Given the description of an element on the screen output the (x, y) to click on. 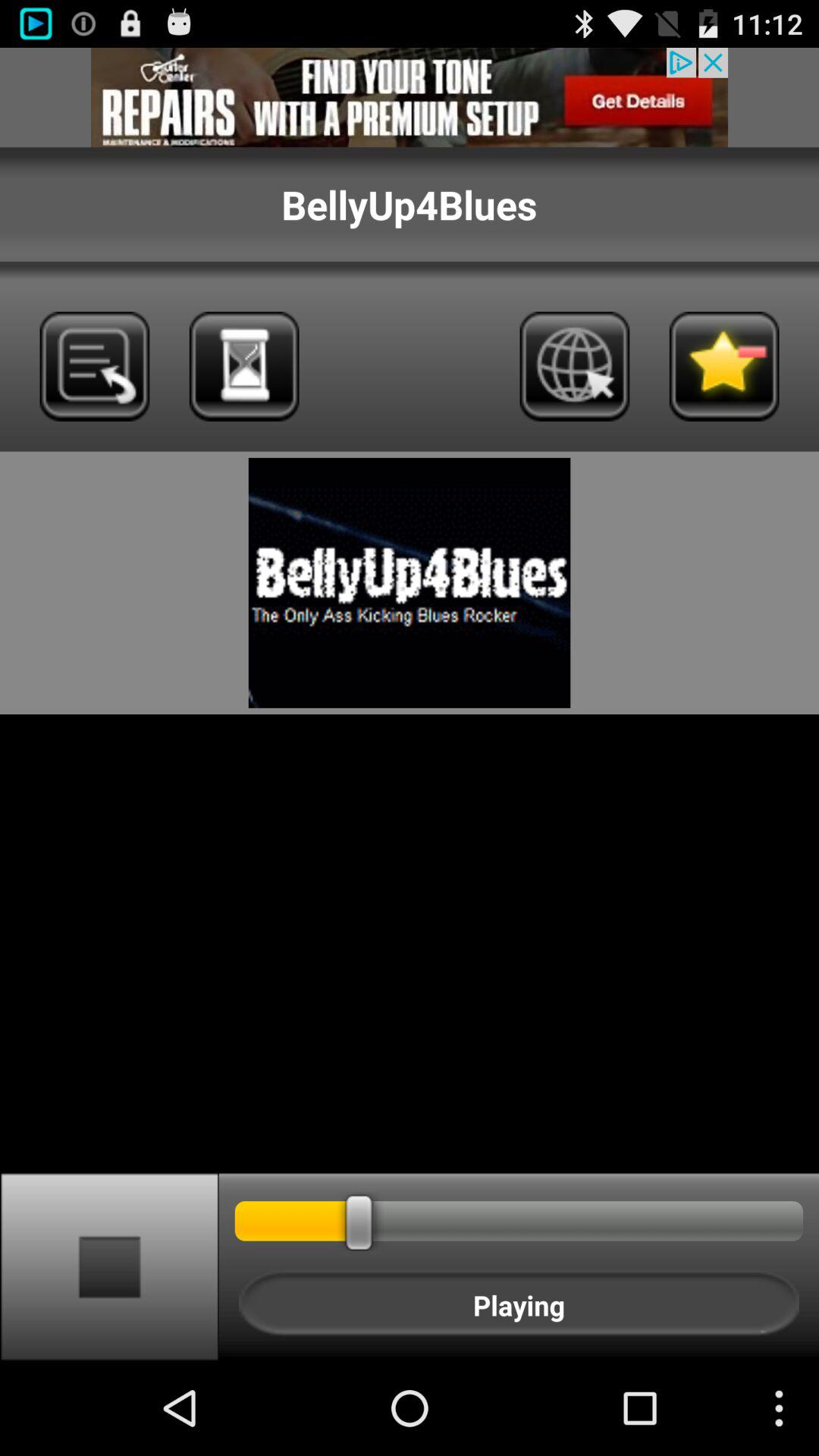
search for stations (244, 366)
